Given the description of an element on the screen output the (x, y) to click on. 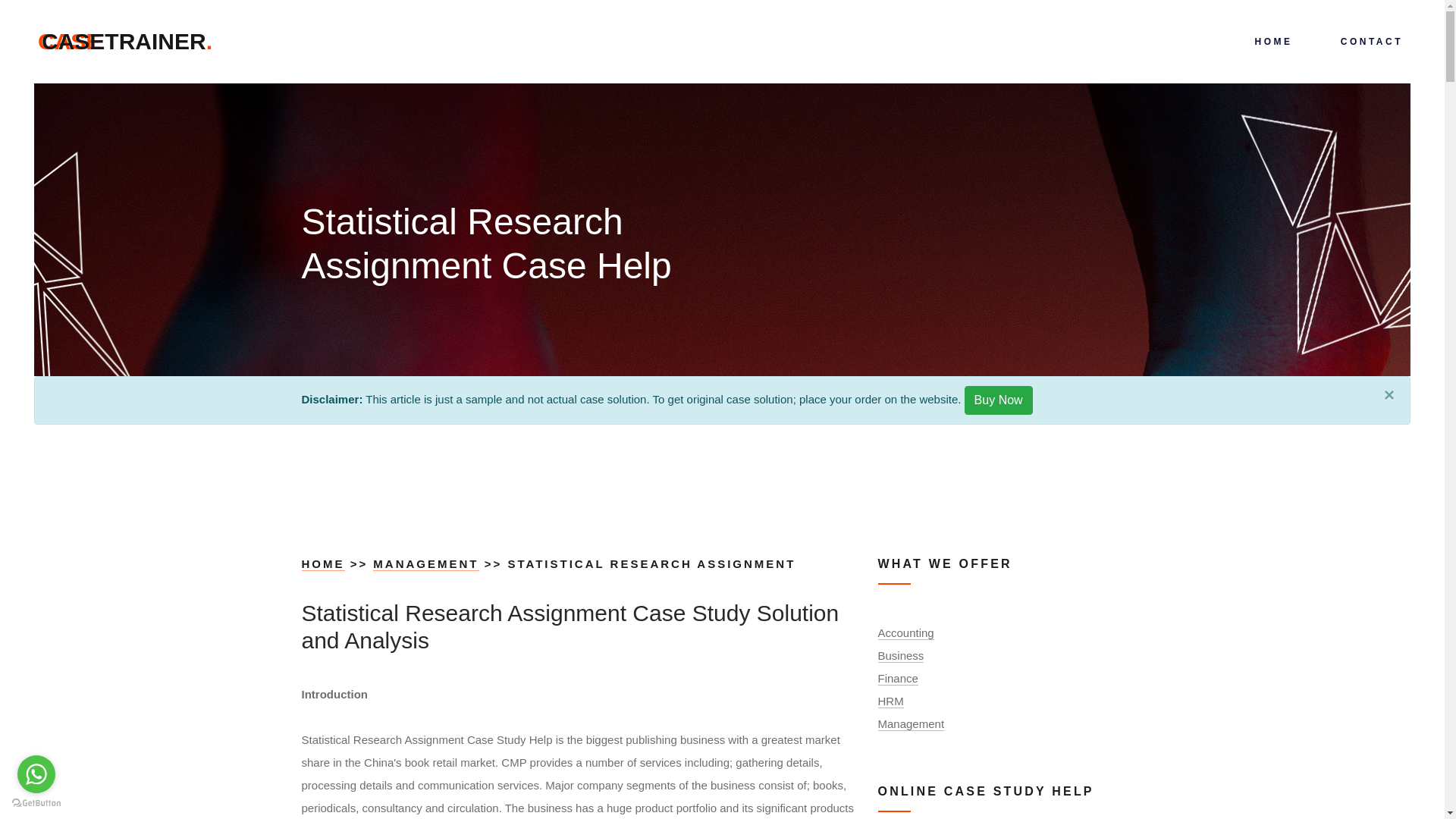
CONTACT (1370, 41)
HOME (127, 41)
Buy Now (323, 563)
MANAGEMENT (997, 399)
